Given the description of an element on the screen output the (x, y) to click on. 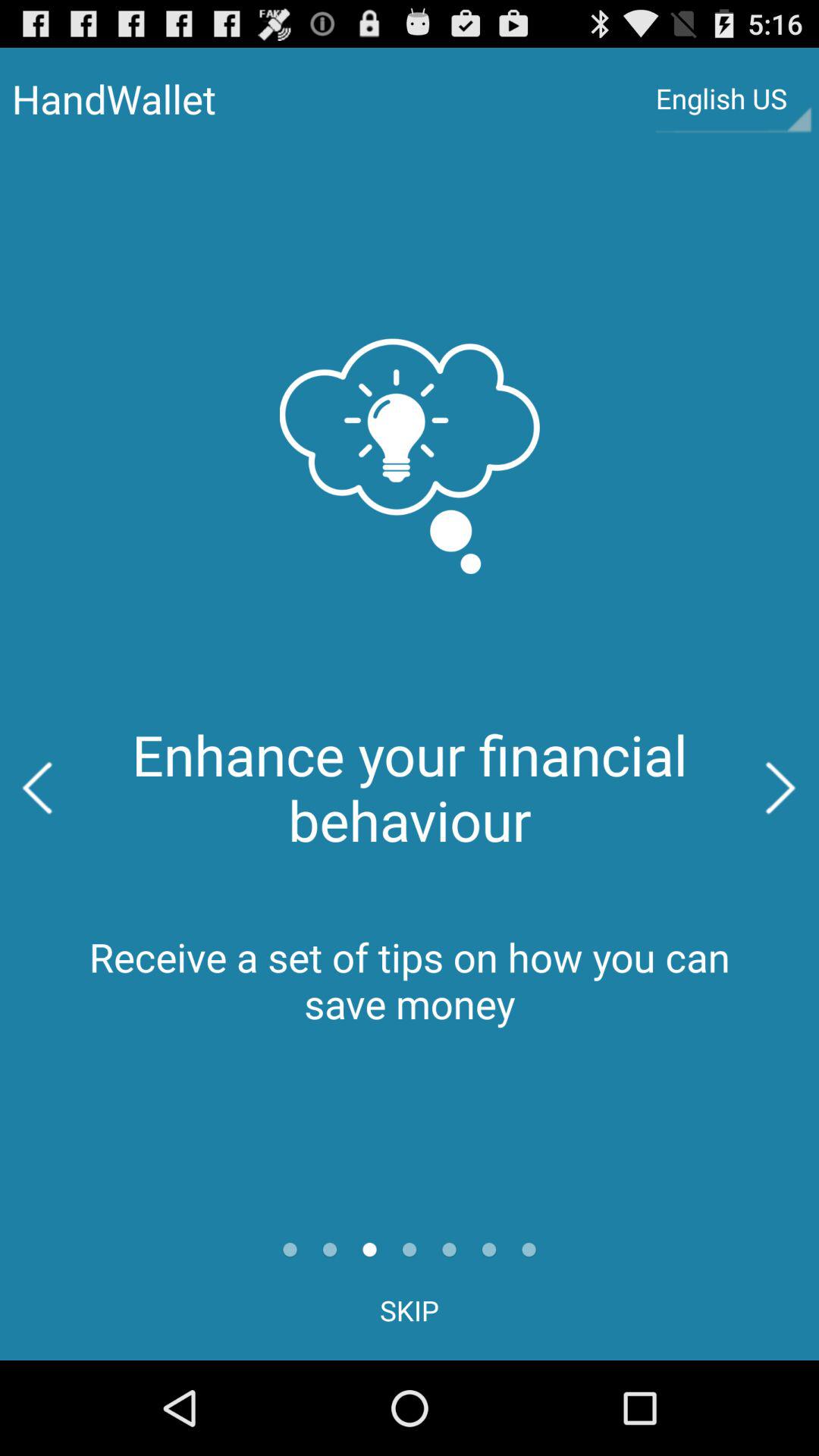
click the icon next to the handwallet app (733, 98)
